Given the description of an element on the screen output the (x, y) to click on. 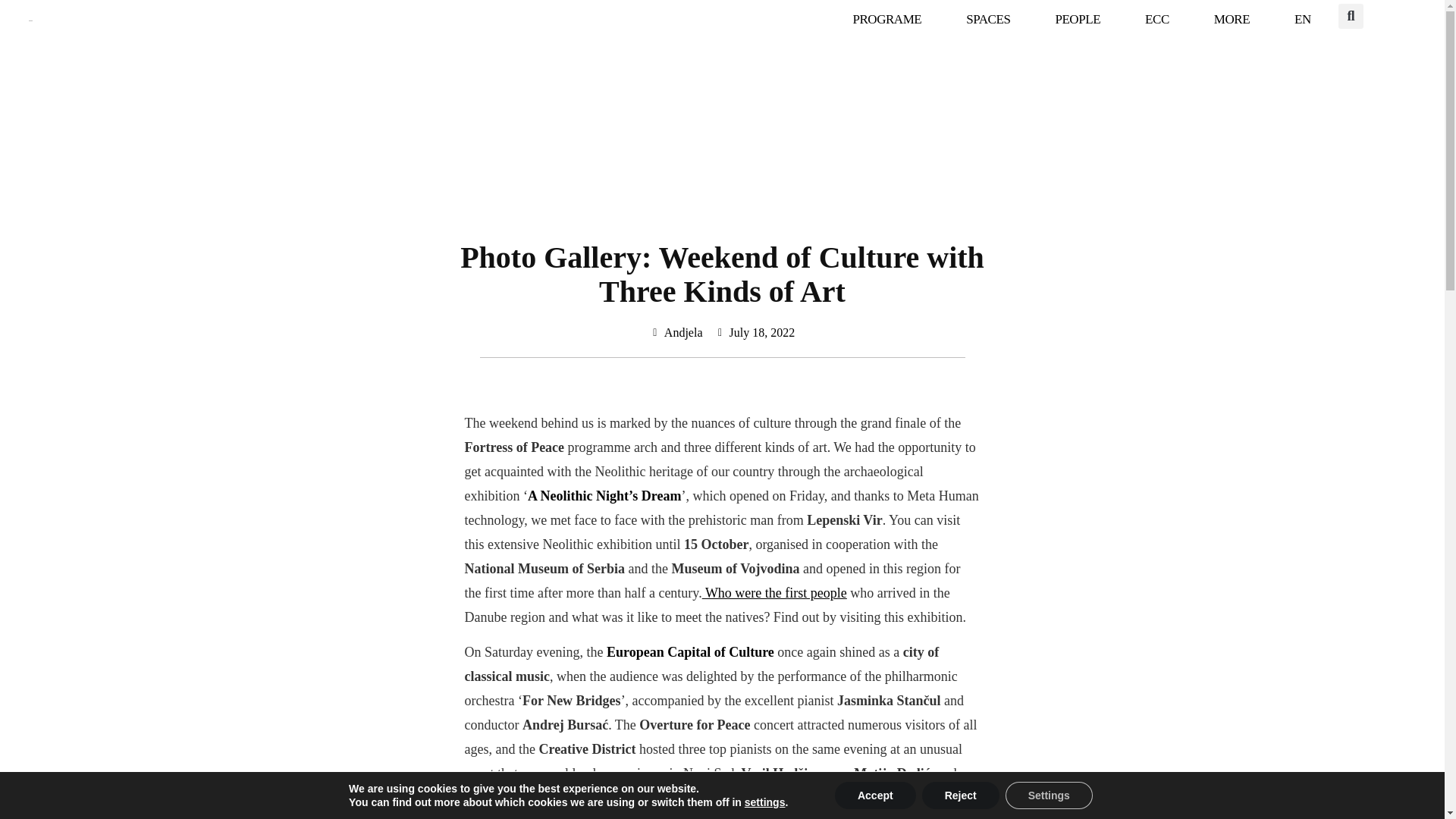
MORE (1232, 19)
PEOPLE (1077, 19)
PROGRAME (886, 19)
EN (1303, 19)
EN (1303, 19)
SPACES (987, 19)
ECC (1156, 19)
